Given the description of an element on the screen output the (x, y) to click on. 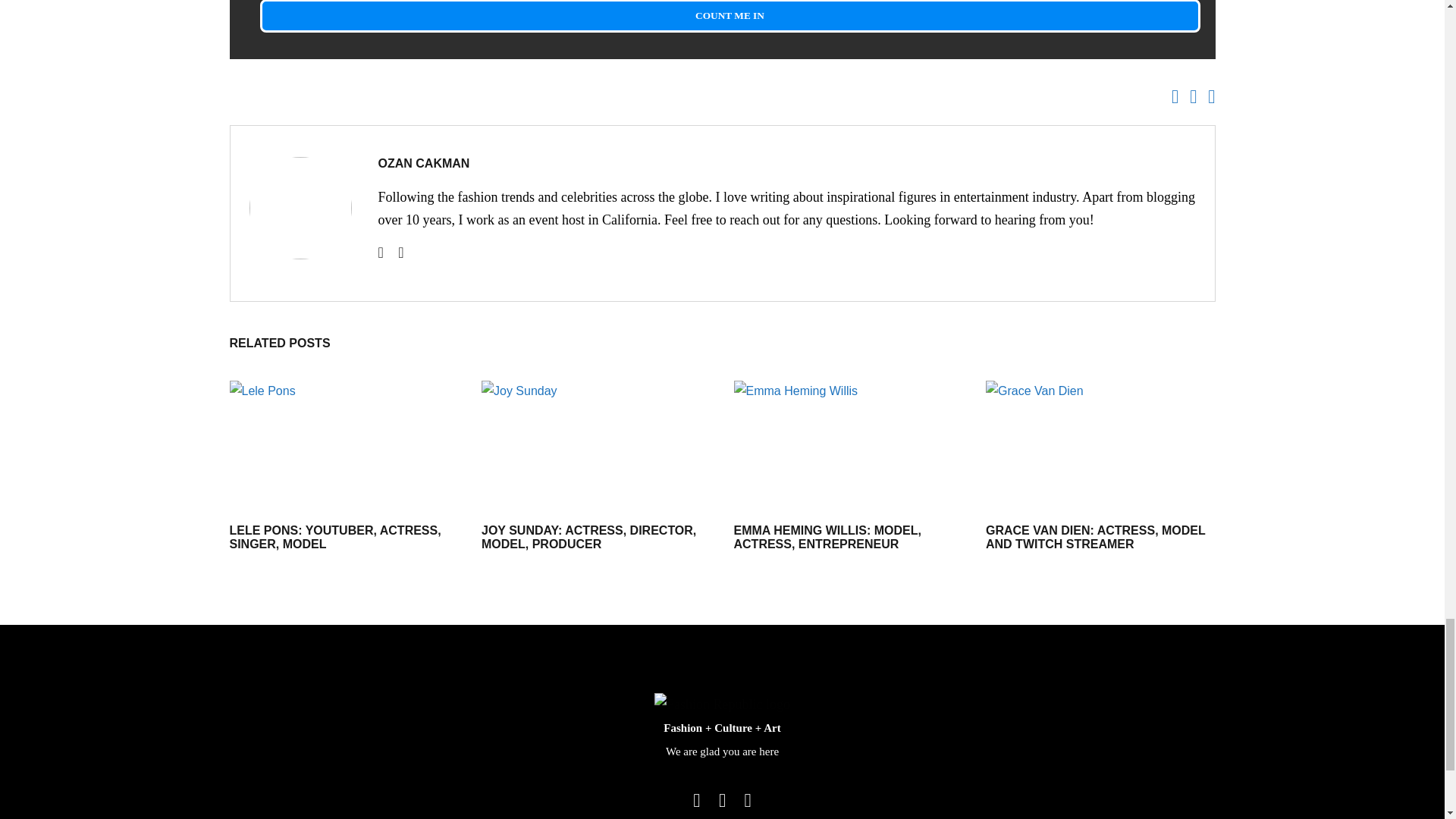
Reign Judge: Model, Entrepreneur, Influencer (305, 208)
Joy Sunday: Actress, Director, Model, Producer (588, 537)
Emma Heming Willis: Model, Actress, Entrepreneur (848, 444)
Lele Pons: YouTuber, Actress, Singer, Model (334, 537)
COUNT ME IN (729, 16)
Lele Pons: YouTuber, Actress, Singer, Model (343, 444)
Reign Judge: Model, Entrepreneur, Influencer (422, 163)
Emma Heming Willis: Model, Actress, Entrepreneur (827, 537)
Grace Van Dien: Actress, Model and Twitch Streamer (1100, 444)
Joy Sunday: Actress, Director, Model, Producer (596, 444)
Grace Van Dien: Actress, Model and Twitch Streamer (1095, 537)
